Given the description of an element on the screen output the (x, y) to click on. 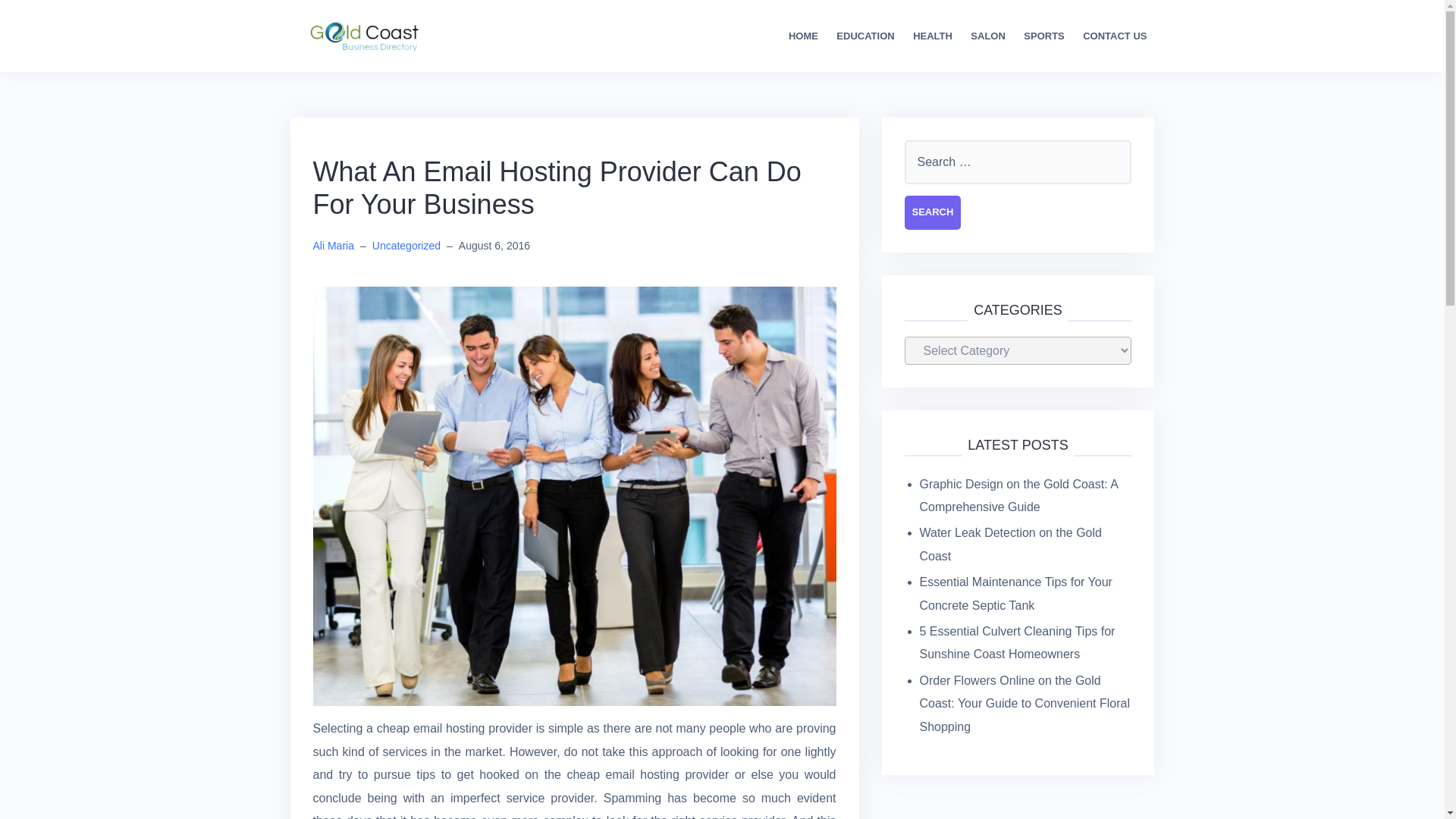
CONTACT US (1115, 36)
Water Leak Detection on the Gold Coast (1009, 543)
Ali Maria (333, 245)
SALON (988, 36)
Search (932, 212)
Essential Maintenance Tips for Your Concrete Septic Tank (1015, 592)
SPORTS (1043, 36)
Graphic Design on the Gold Coast: A Comprehensive Guide (1017, 495)
Uncategorized (406, 245)
Search (932, 212)
HOME (803, 36)
EDUCATION (864, 36)
Search (932, 212)
